Given the description of an element on the screen output the (x, y) to click on. 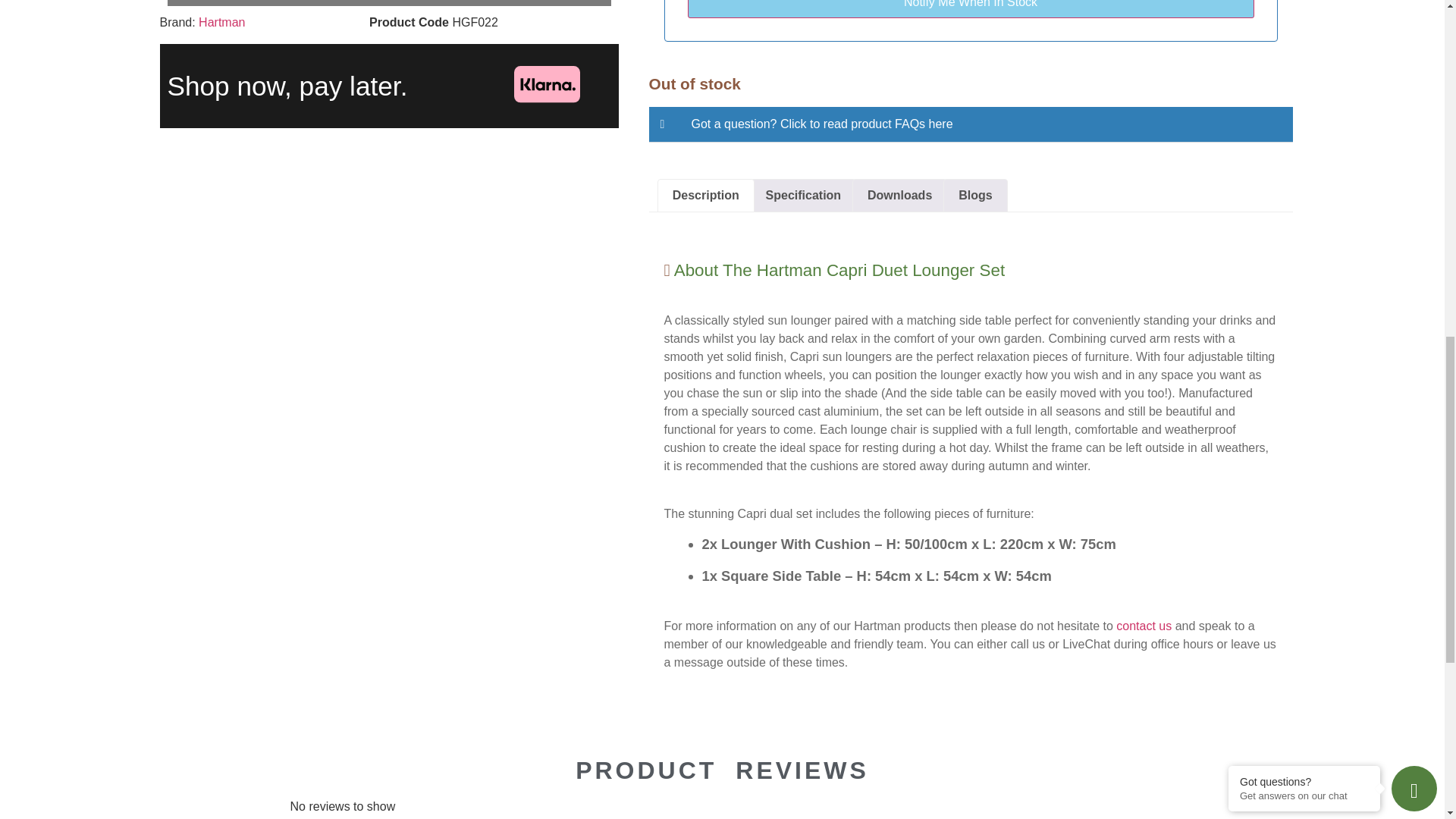
Notify Me When In Stock (970, 9)
